Given the description of an element on the screen output the (x, y) to click on. 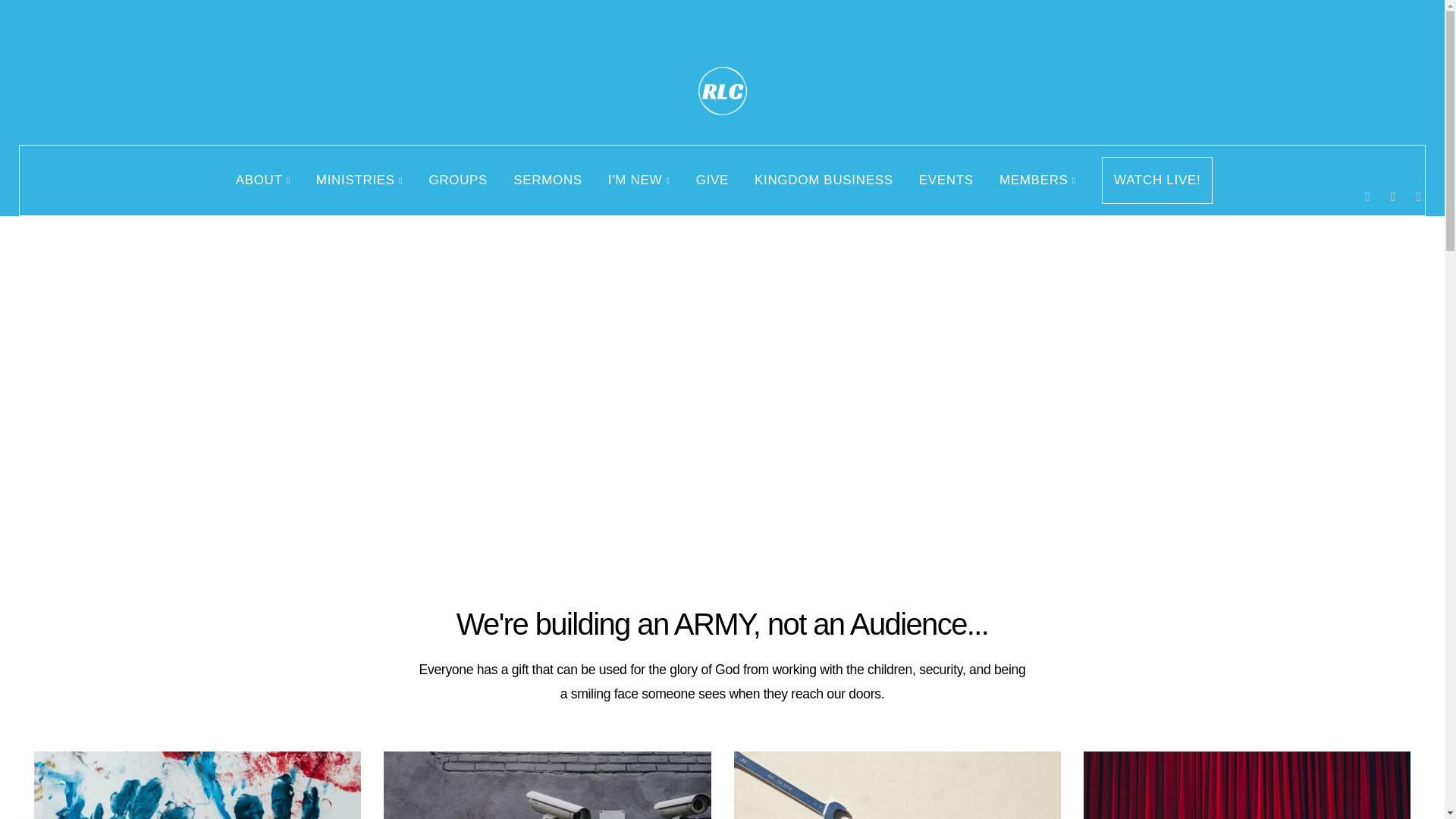
KINGDOM BUSINESS (823, 180)
EVENTS (946, 180)
GROUPS (457, 180)
WATCH LIVE! (1157, 180)
SERMONS (548, 180)
GIVE (711, 180)
I'M NEW  (638, 180)
MINISTRIES  (359, 180)
ABOUT  (262, 180)
MEMBERS  (1037, 180)
